Given the description of an element on the screen output the (x, y) to click on. 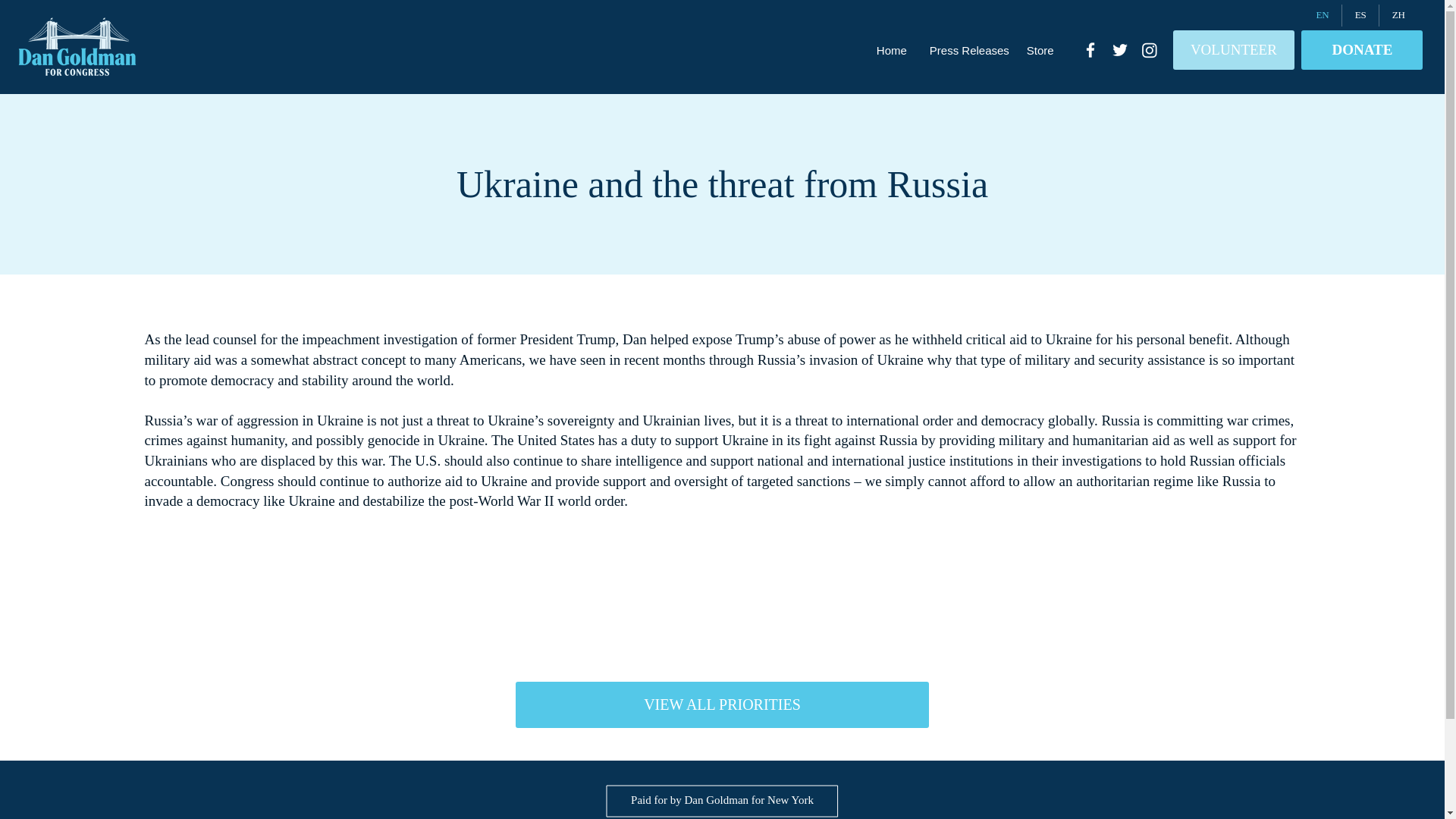
EN (1321, 15)
Home (891, 50)
VOLUNTEER (1233, 49)
DONATE (1361, 49)
Store (1039, 50)
ES (1359, 15)
Press Releases (966, 50)
ZH (1397, 15)
VIEW ALL PRIORITIES (721, 704)
